Given the description of an element on the screen output the (x, y) to click on. 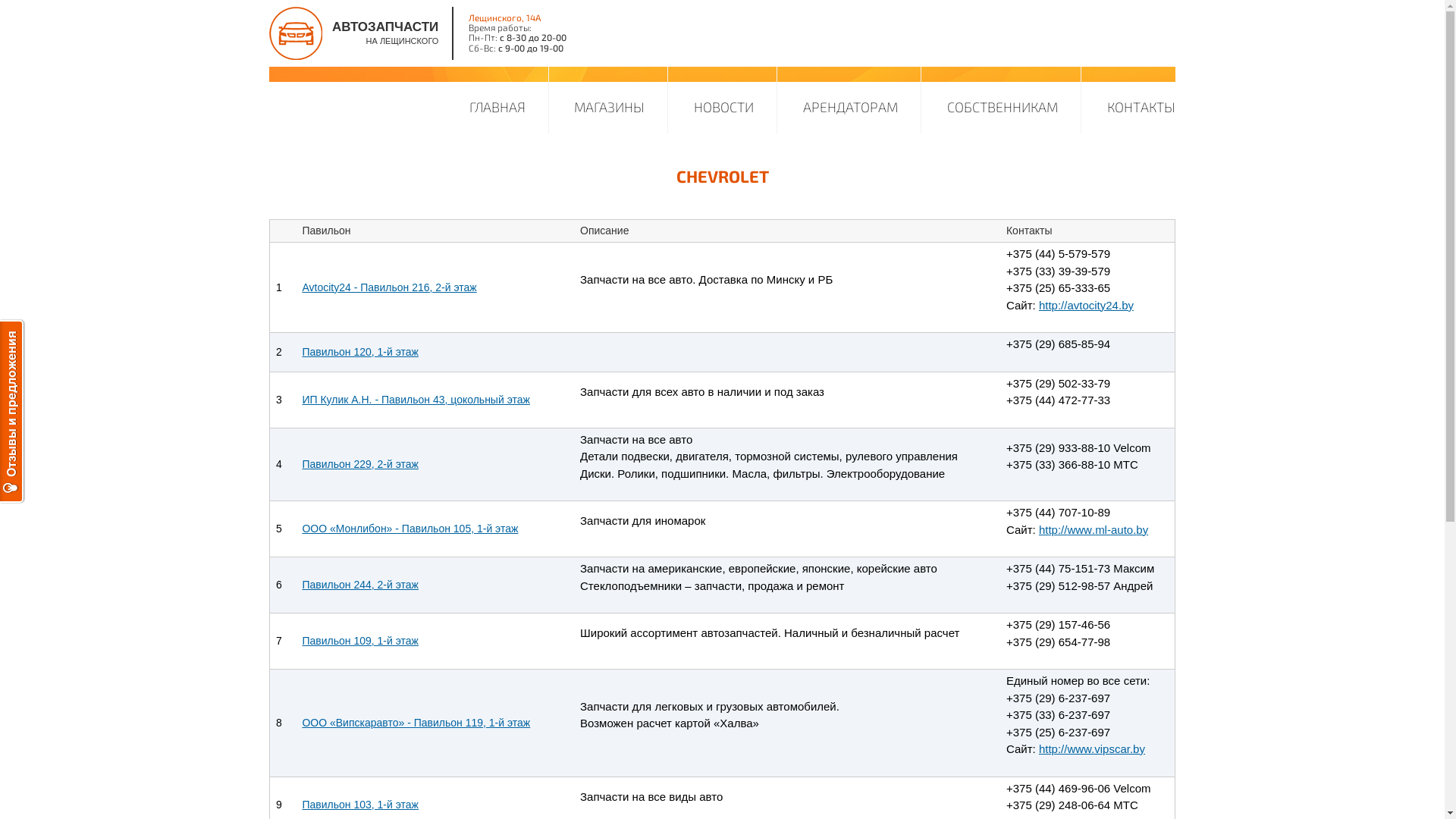
http://www.vipscar.by Element type: text (1091, 748)
http://www.ml-auto.by Element type: text (1093, 529)
http://avtocity24.by Element type: text (1085, 304)
